Given the description of an element on the screen output the (x, y) to click on. 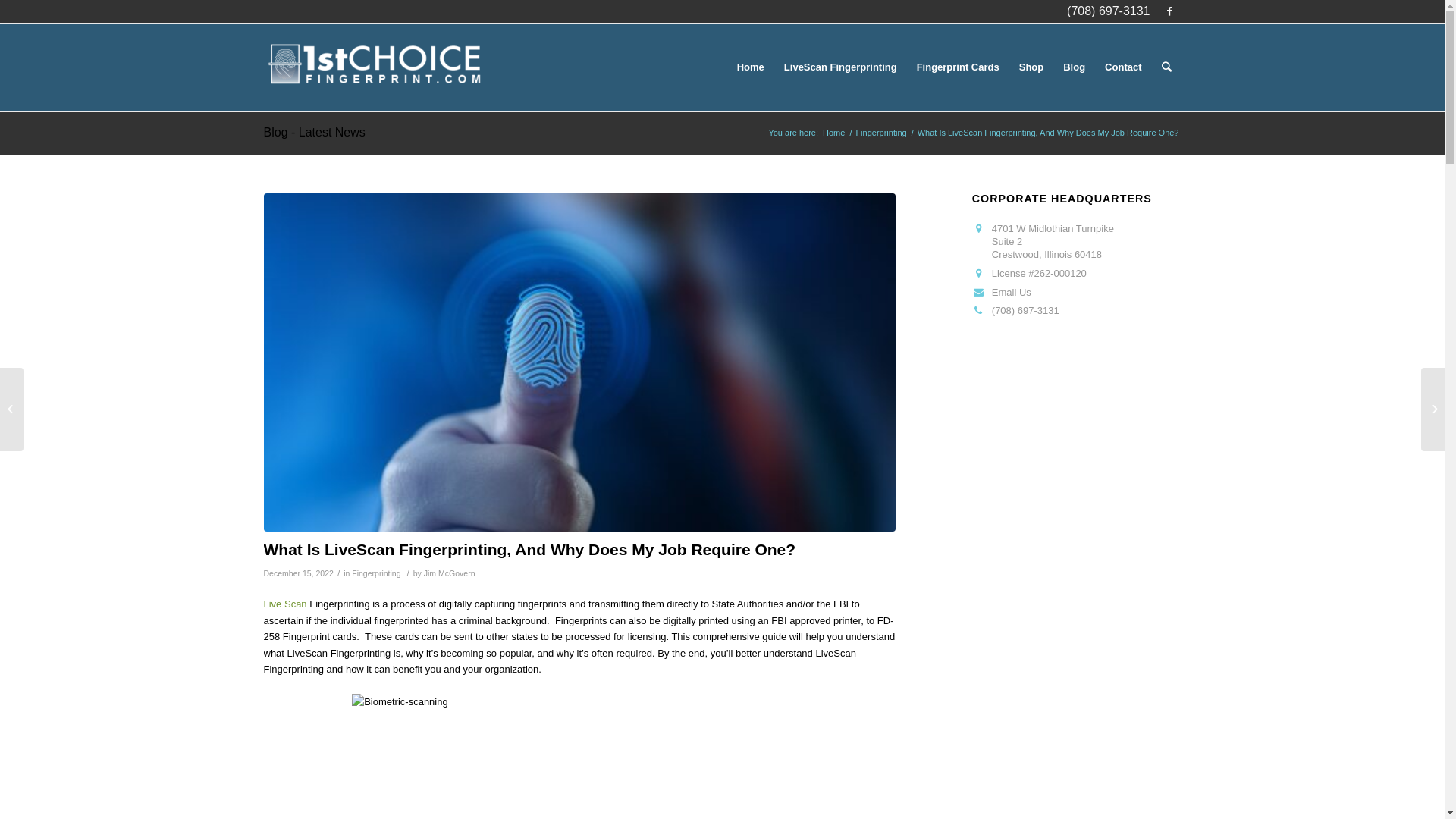
Shop Element type: text (1031, 67)
Email Us Element type: text (1011, 292)
Live Scan Element type: text (285, 603)
Home Element type: text (833, 132)
Jim McGovern Element type: text (449, 572)
Blog - Latest News Element type: text (314, 131)
(708) 697-3131 Element type: text (1025, 310)
Fingerprint Cards Element type: text (957, 67)
Home Element type: text (750, 67)
Fingerprinting Element type: text (375, 572)
Blog Element type: text (1074, 67)
Facebook Element type: hover (1169, 11)
4701 W Midlothian Turnpike
Suite 2
Crestwood, Illinois 60418 Element type: text (1052, 241)
Fingerprinting Element type: text (880, 132)
LiveScan Fingerprinting Element type: text (840, 67)
Contact Element type: text (1123, 67)
